Given the description of an element on the screen output the (x, y) to click on. 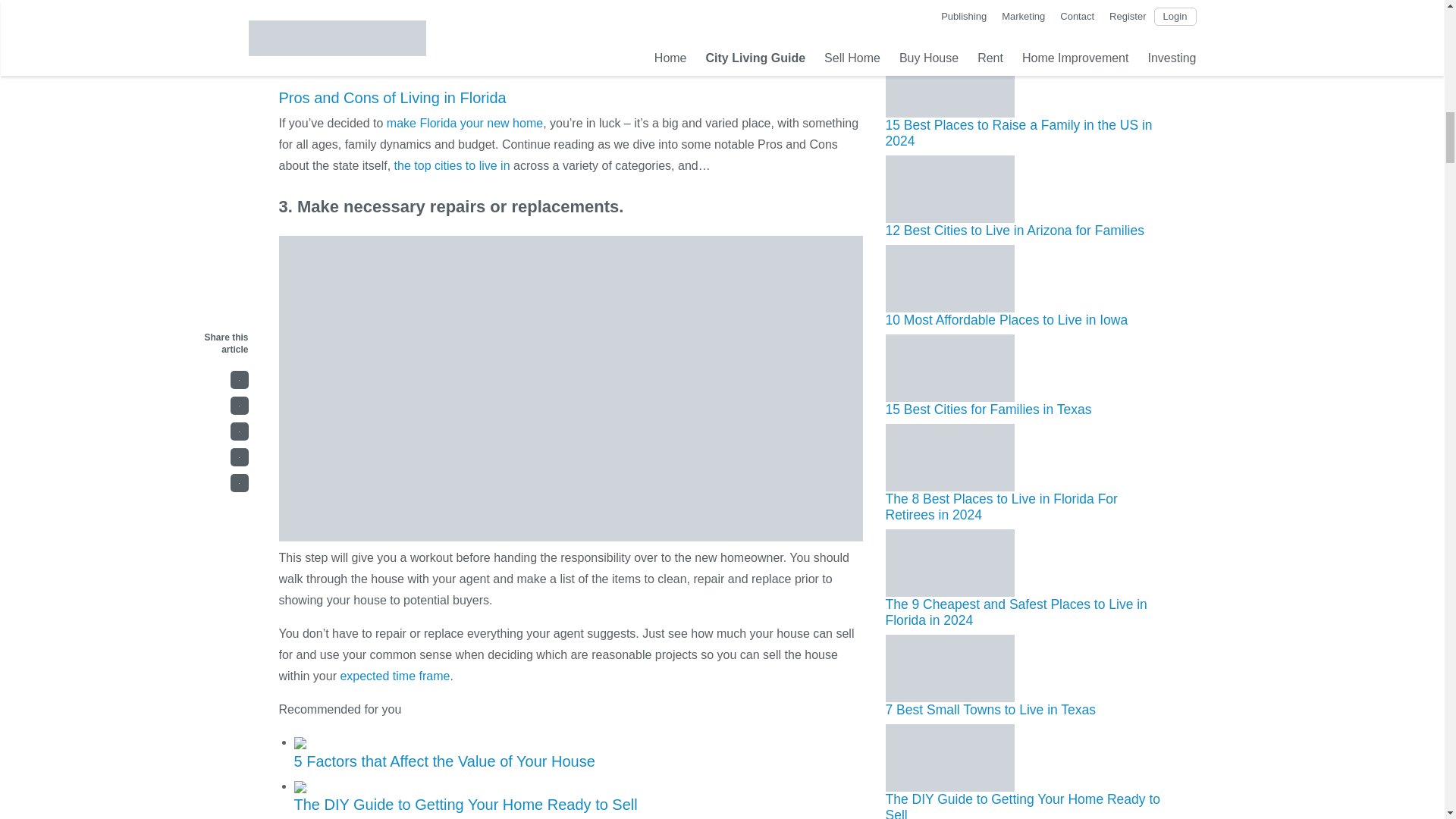
How Long Does it Take to Buy a House (394, 675)
The 8 Best Biggest Cities in Florida (452, 164)
10 Most Affordable Places to Live in Florida (465, 123)
Factors that Affect the Value of Your House (729, 11)
